Given the description of an element on the screen output the (x, y) to click on. 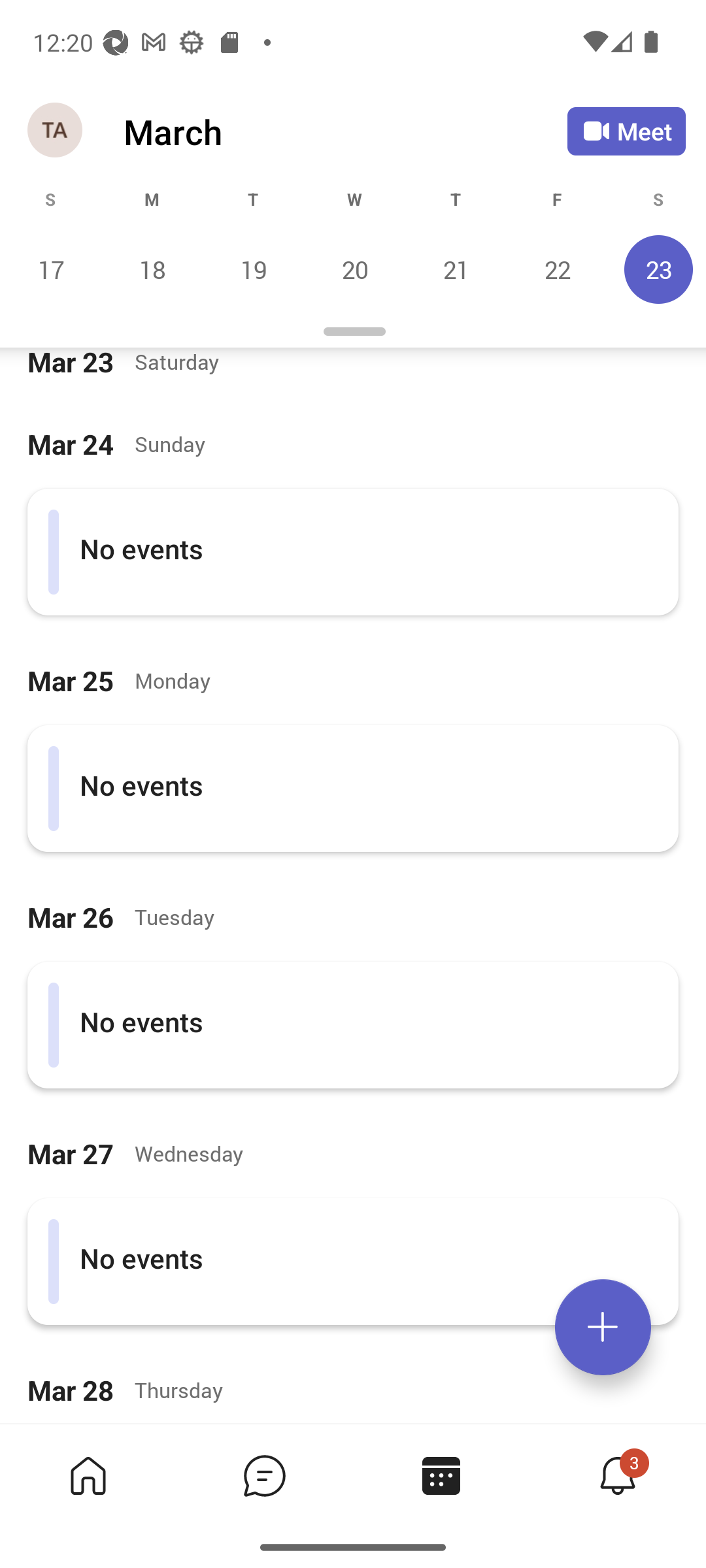
Navigation (56, 130)
Meet Meet now or join with an ID (626, 130)
March March Calendar Agenda View (345, 131)
Sunday, March 17 17 (50, 269)
Monday, March 18 18 (151, 269)
Tuesday, March 19 19 (253, 269)
Wednesday, March 20 20 (354, 269)
Thursday, March 21 21 (455, 269)
Friday, March 22 22 (556, 269)
Saturday, March 23, Selected 23 (656, 269)
Expand meetings menu (602, 1327)
Home tab,1 of 4, not selected (88, 1475)
Chat tab,2 of 4, not selected (264, 1475)
Calendar tab, 3 of 4 (441, 1475)
Activity tab,4 of 4, not selected, 3 new 3 (617, 1475)
